Given the description of an element on the screen output the (x, y) to click on. 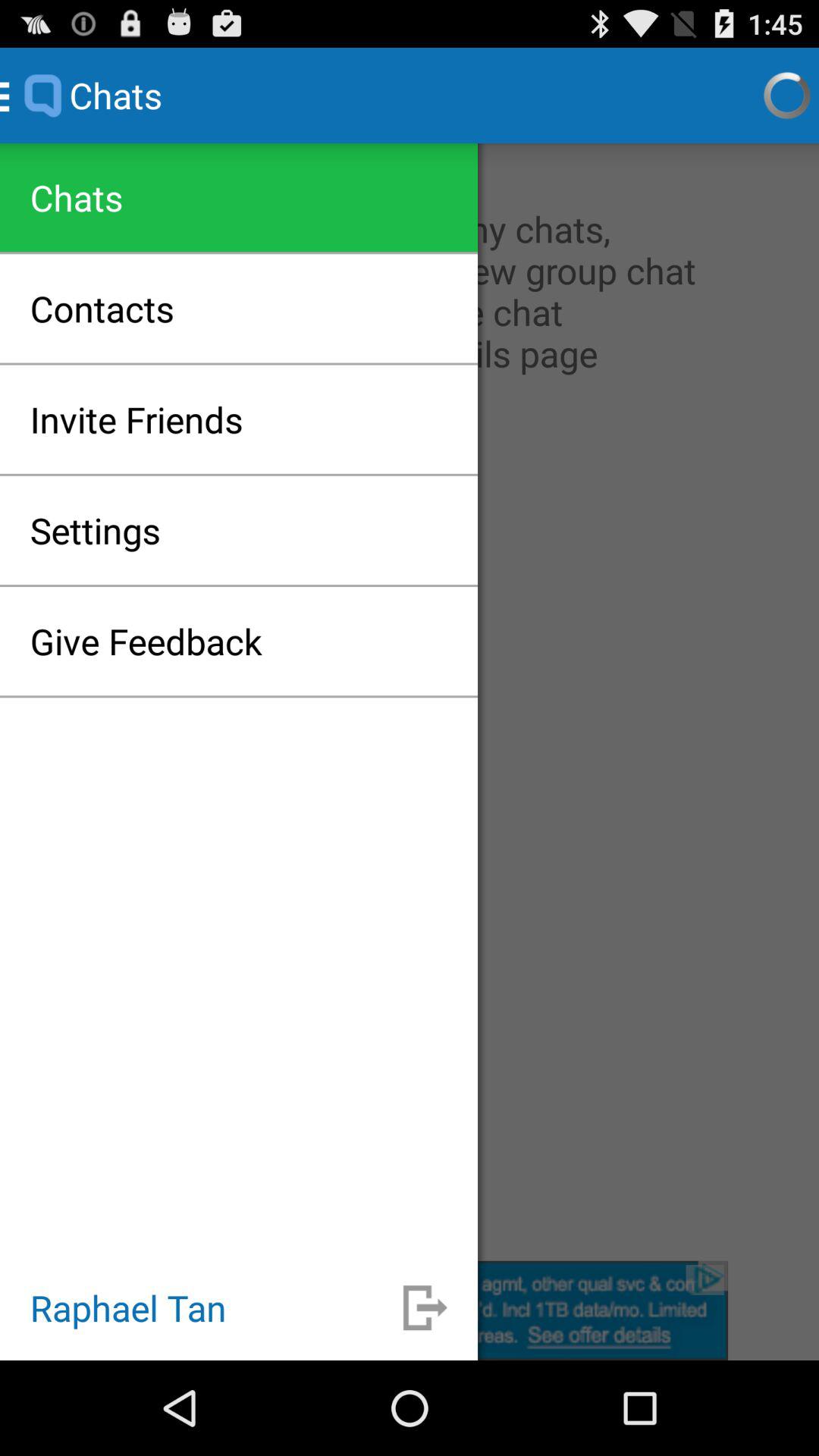
open the invite friends icon (136, 419)
